Given the description of an element on the screen output the (x, y) to click on. 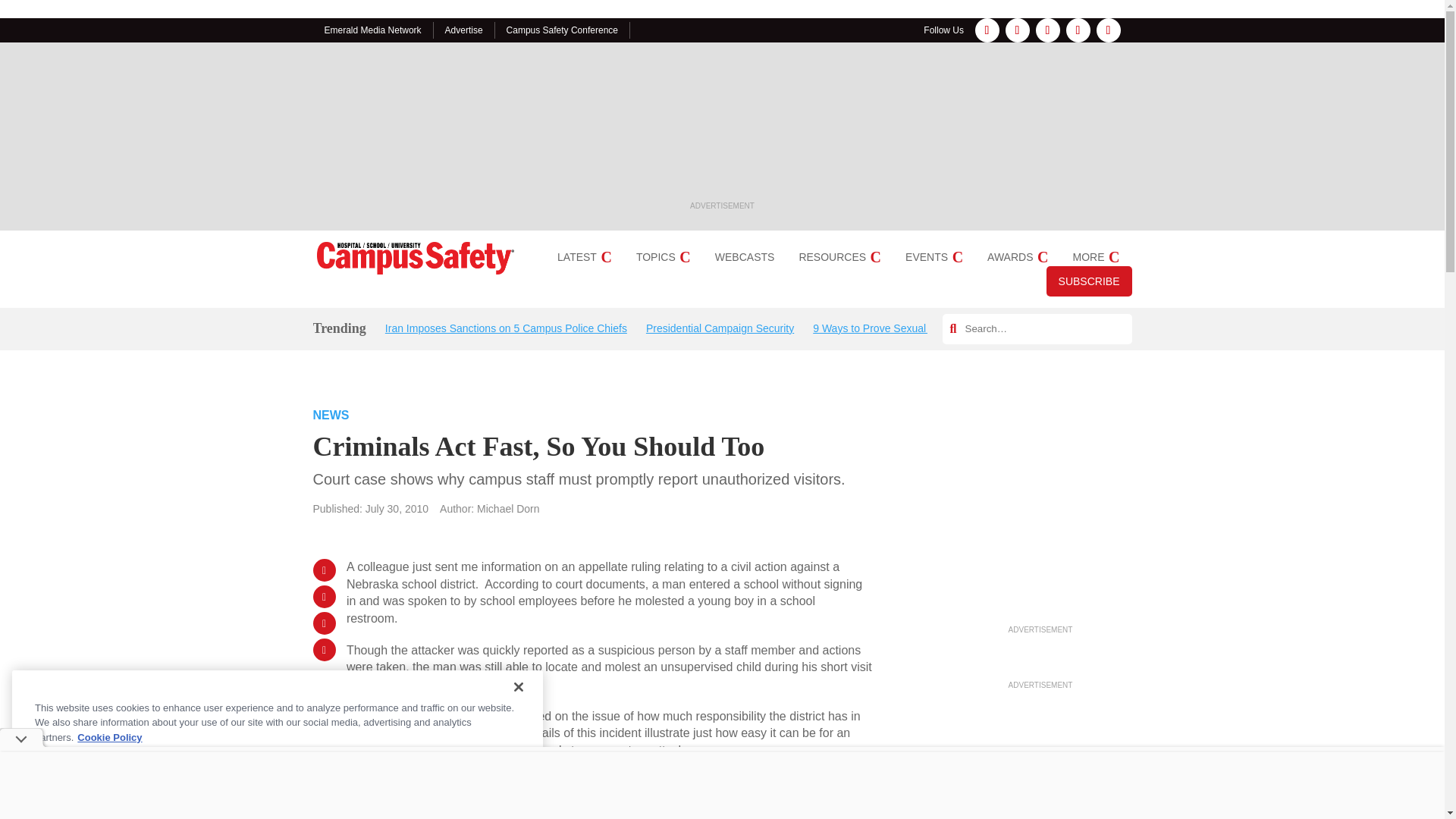
TOPICS (663, 256)
Follow on X (1077, 30)
Emerald Media Network (373, 30)
Follow on Instagram (1017, 30)
3rd party ad content (722, 127)
Follow on Facebook (986, 30)
Follow on LinkedIn (1047, 30)
Campus Safety Conference (561, 30)
Advertise (464, 30)
LATEST (584, 256)
Follow on Youtube (1108, 30)
